Given the description of an element on the screen output the (x, y) to click on. 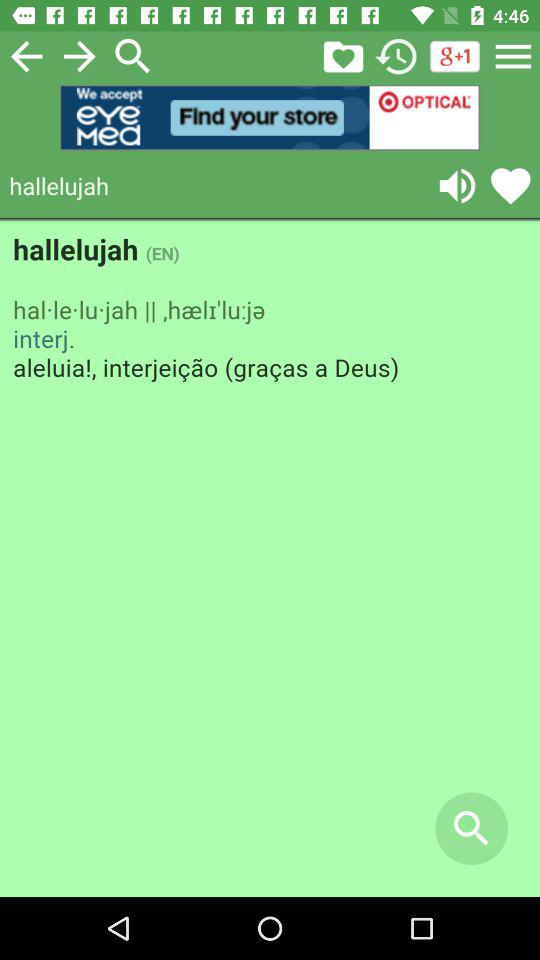
go to main meanu (513, 56)
